Given the description of an element on the screen output the (x, y) to click on. 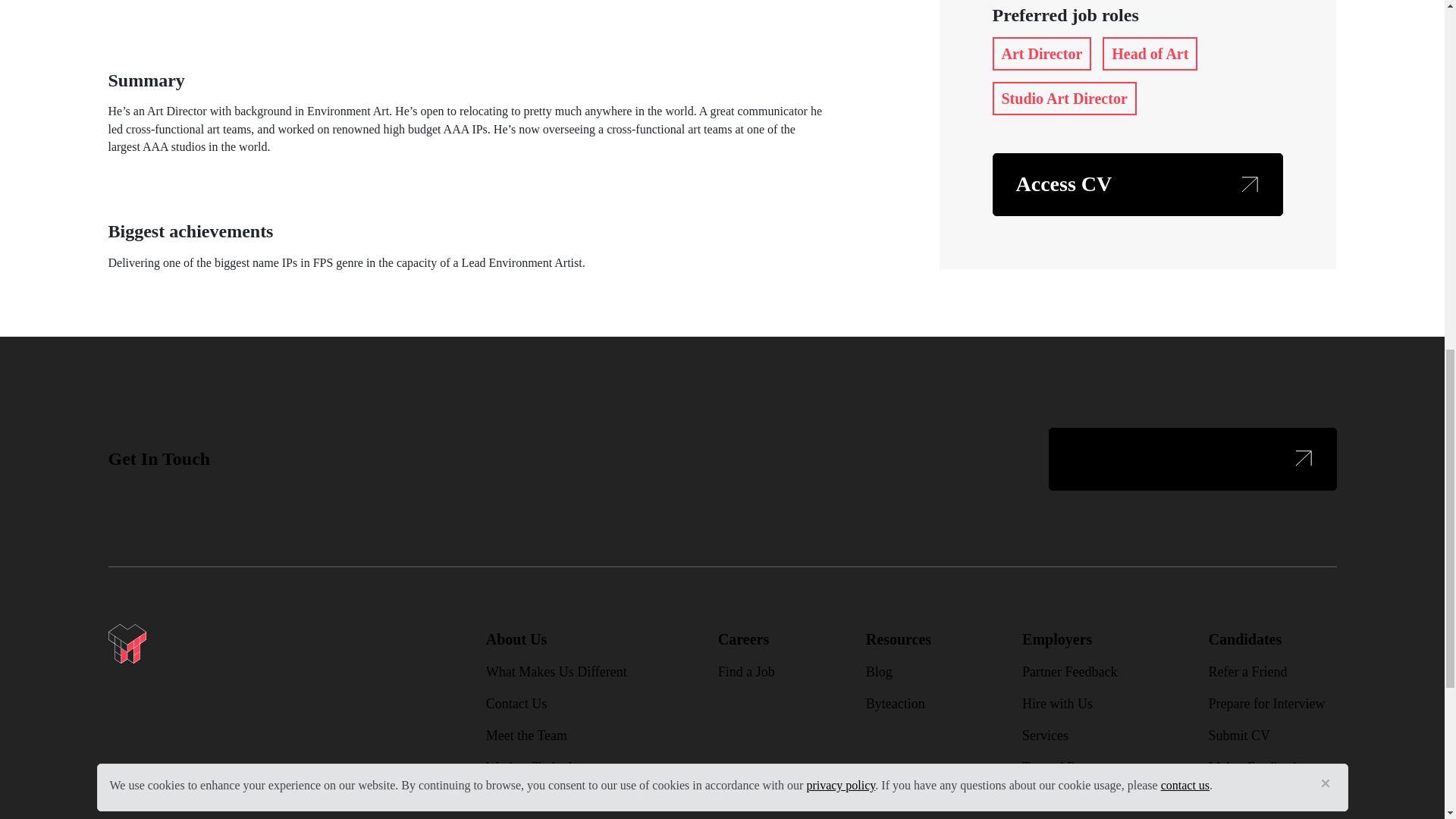
Work at Techtak (530, 767)
What Makes Us Different (556, 671)
Contact Us (516, 703)
Access CV (1136, 184)
Meet the Team (526, 735)
About Us (516, 639)
